Given the description of an element on the screen output the (x, y) to click on. 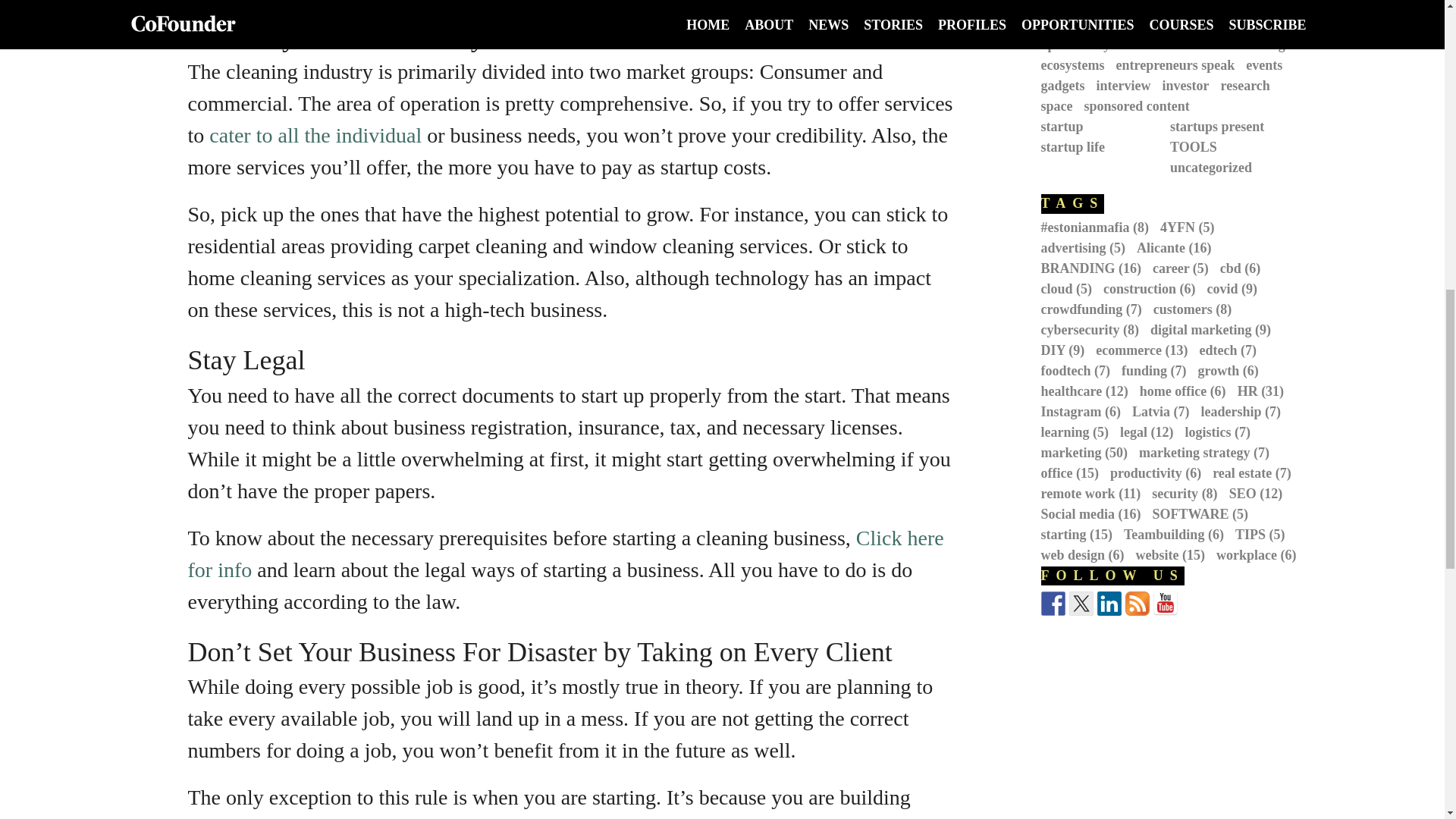
entrepreneurs speak (1180, 64)
research (1250, 85)
sponsored content (1142, 105)
events (1270, 64)
Subscribe to our RSS Feed (1137, 603)
gadgets (1068, 85)
investor (1190, 85)
interview (1128, 85)
crowdfunding (1250, 44)
Find us on YouTube (1164, 603)
Follow us on Facebook (1052, 603)
Click here for info (565, 553)
Find us on Linkedin (1108, 603)
space (1062, 105)
cater to all the individual (315, 135)
